Given the description of an element on the screen output the (x, y) to click on. 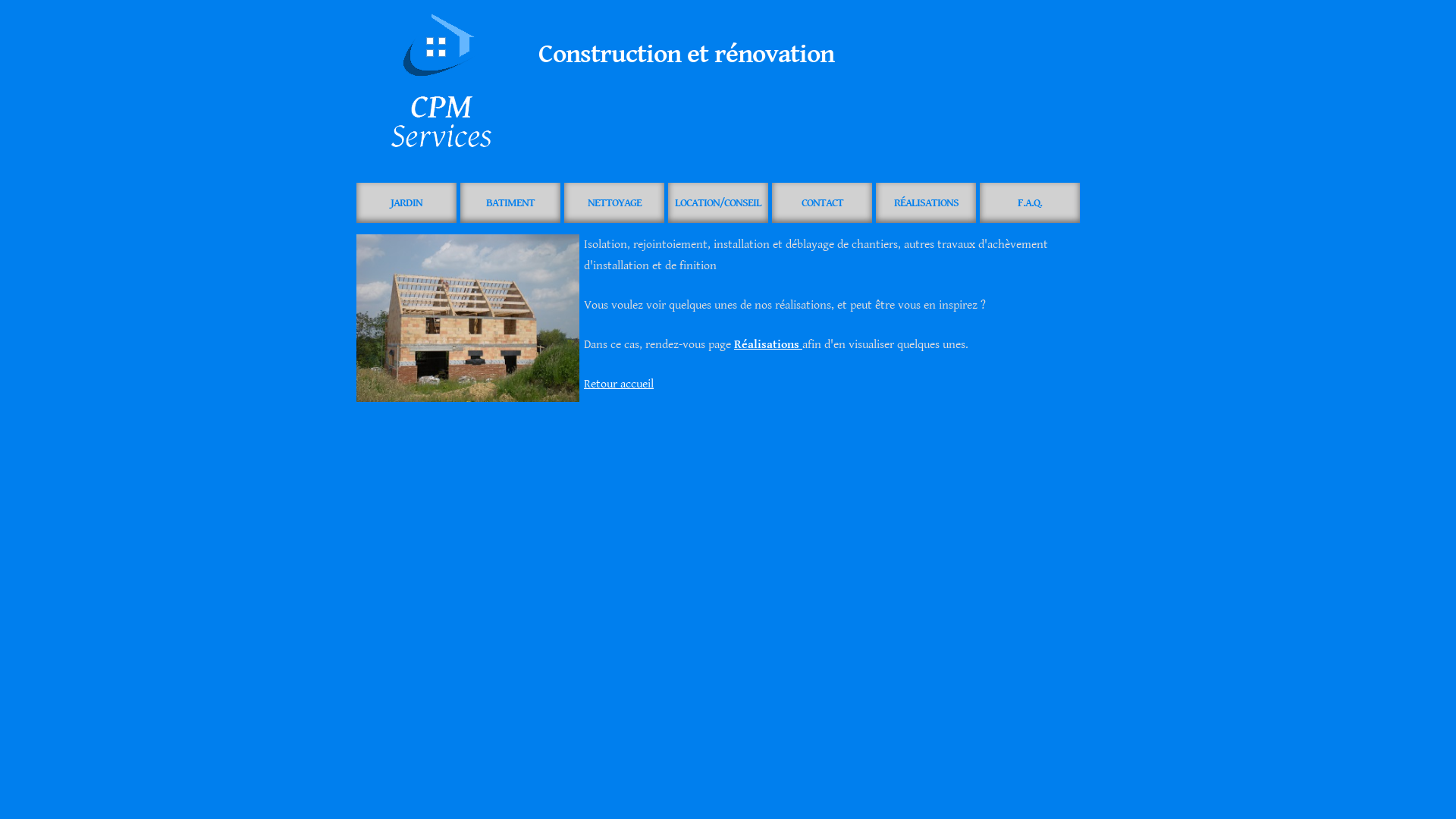
CONTACT Element type: text (821, 202)
Retour accueil Element type: text (618, 383)
JARDIN Element type: text (406, 202)
LOCATION/CONSEIL Element type: text (718, 202)
NETTOYAGE Element type: text (614, 202)
BATIMENT Element type: text (510, 202)
F.A.Q. Element type: text (1029, 202)
